Given the description of an element on the screen output the (x, y) to click on. 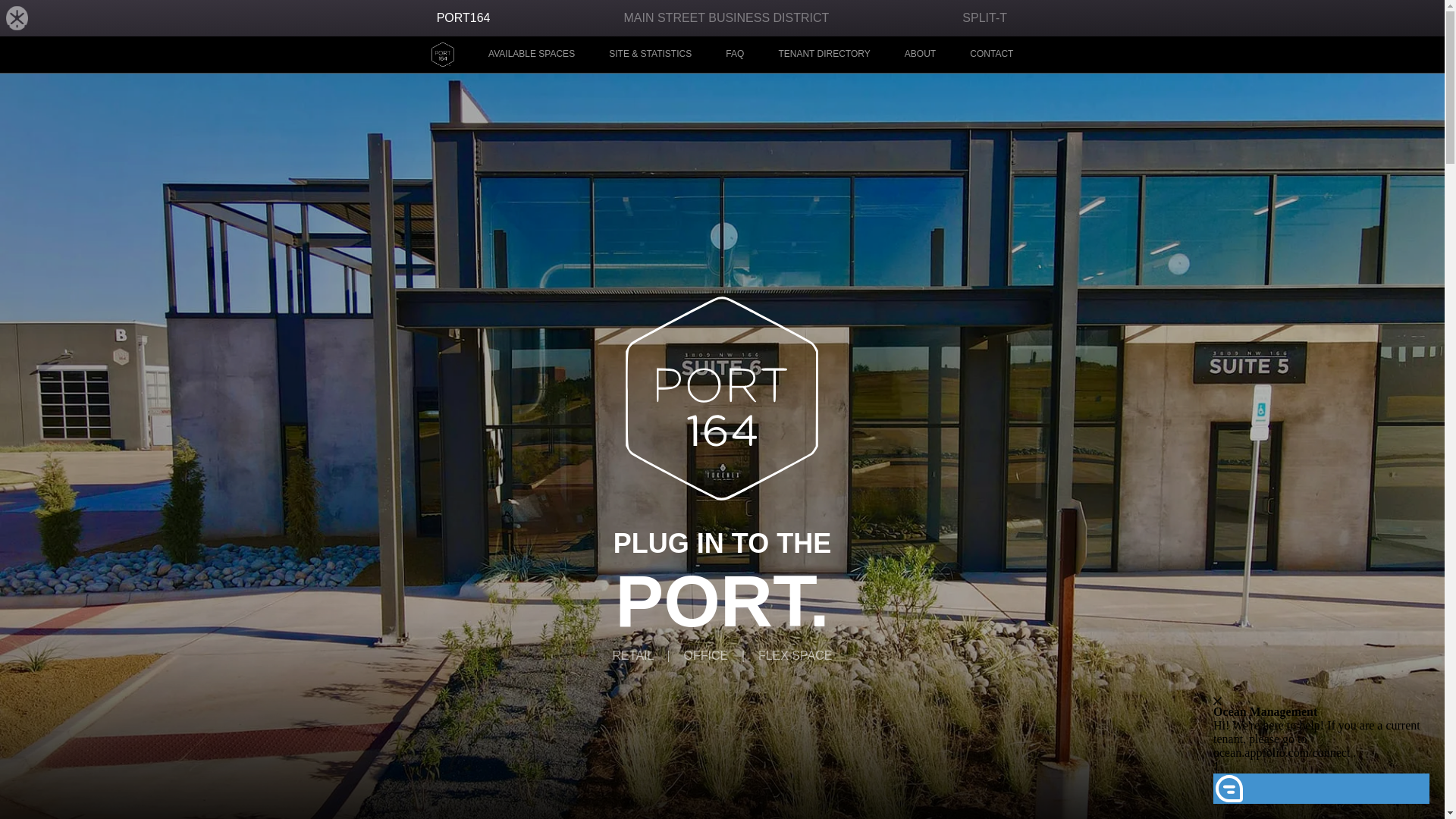
FAQ (734, 54)
SPLIT-T (984, 18)
CONTACT (991, 54)
Front Chat (1326, 721)
ABOUT (920, 54)
AVAILABLE SPACES (531, 54)
PORT164 (463, 18)
MAIN STREET BUSINESS DISTRICT (725, 17)
TENANT DIRECTORY (823, 54)
